Given the description of an element on the screen output the (x, y) to click on. 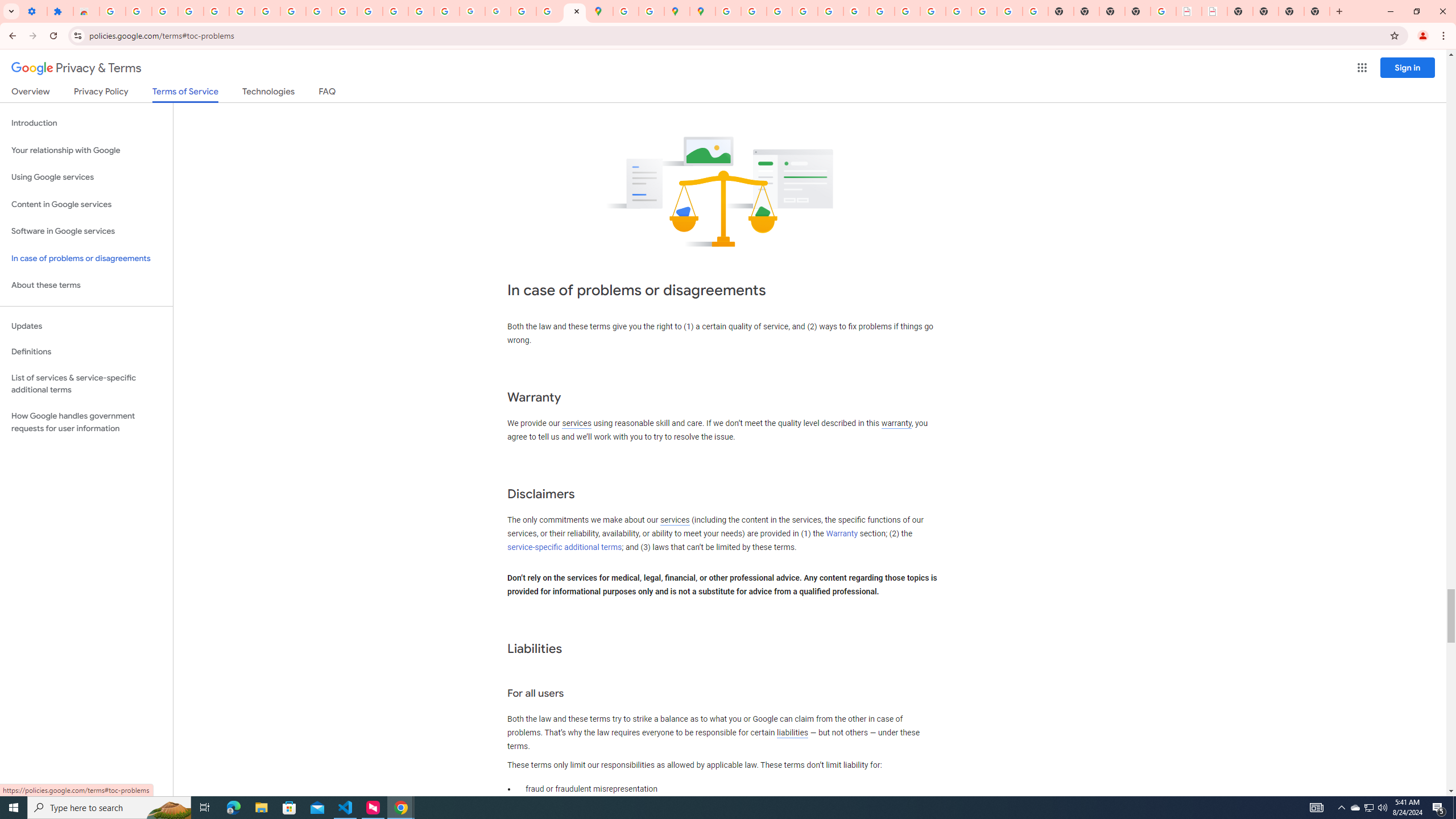
Privacy Help Center - Policies Help (779, 11)
YouTube (318, 11)
Google Images (1034, 11)
Your relationship with Google (86, 150)
Google Maps (600, 11)
How Google handles government requests for user information (86, 422)
